Given the description of an element on the screen output the (x, y) to click on. 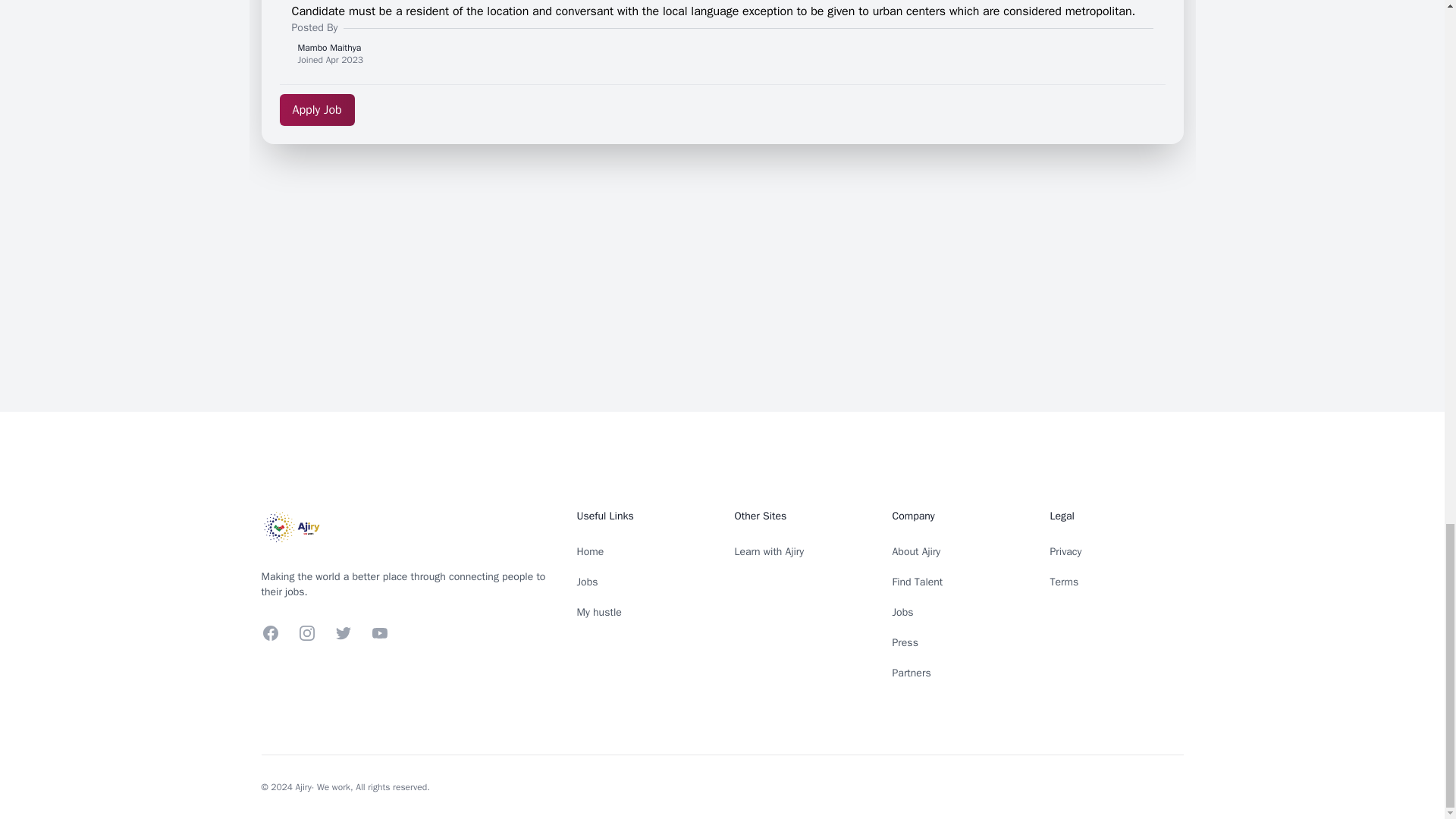
5 (998, 27)
2 (904, 27)
3 (936, 27)
4 (966, 27)
